Given the description of an element on the screen output the (x, y) to click on. 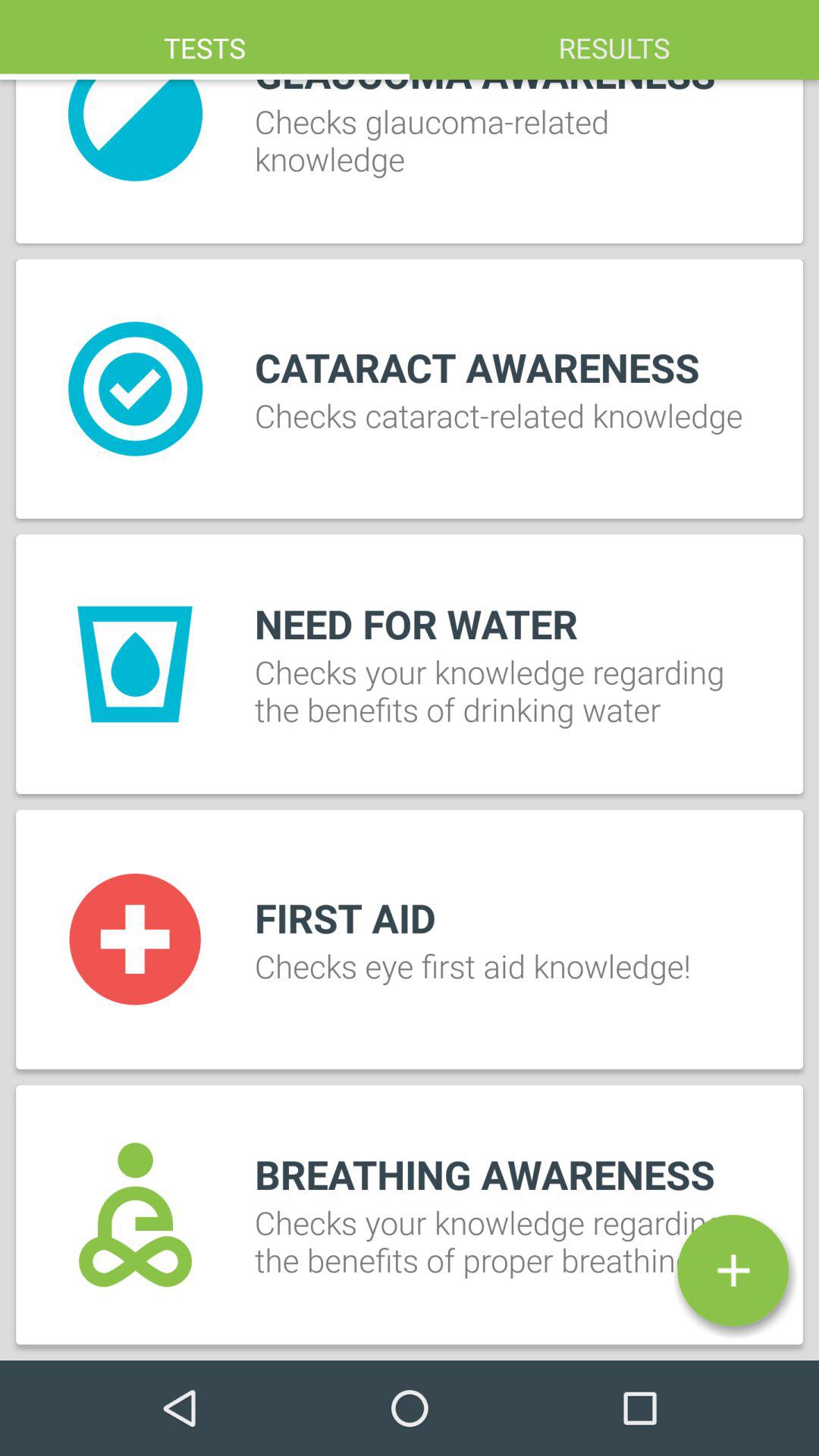
launch the icon to the right of tests (614, 39)
